Given the description of an element on the screen output the (x, y) to click on. 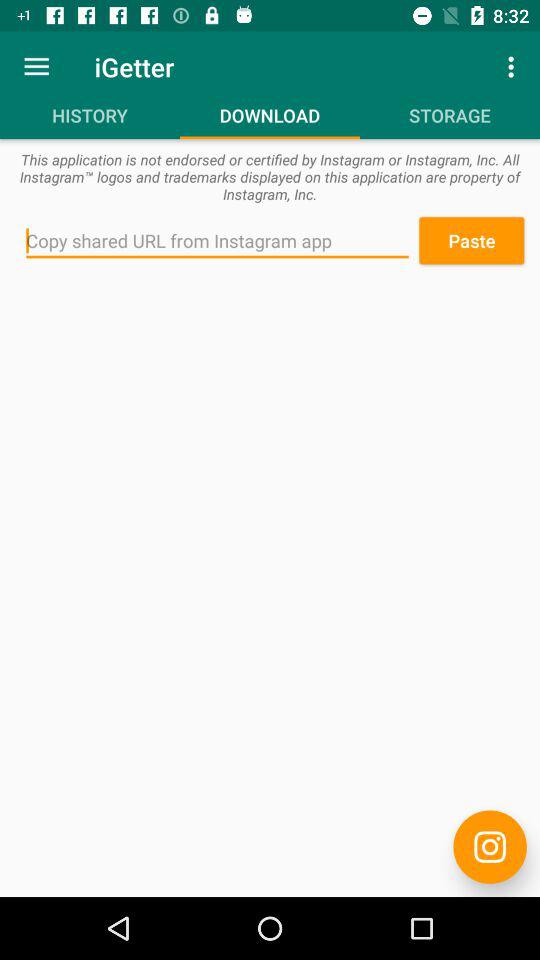
camera button to take picture (489, 846)
